Given the description of an element on the screen output the (x, y) to click on. 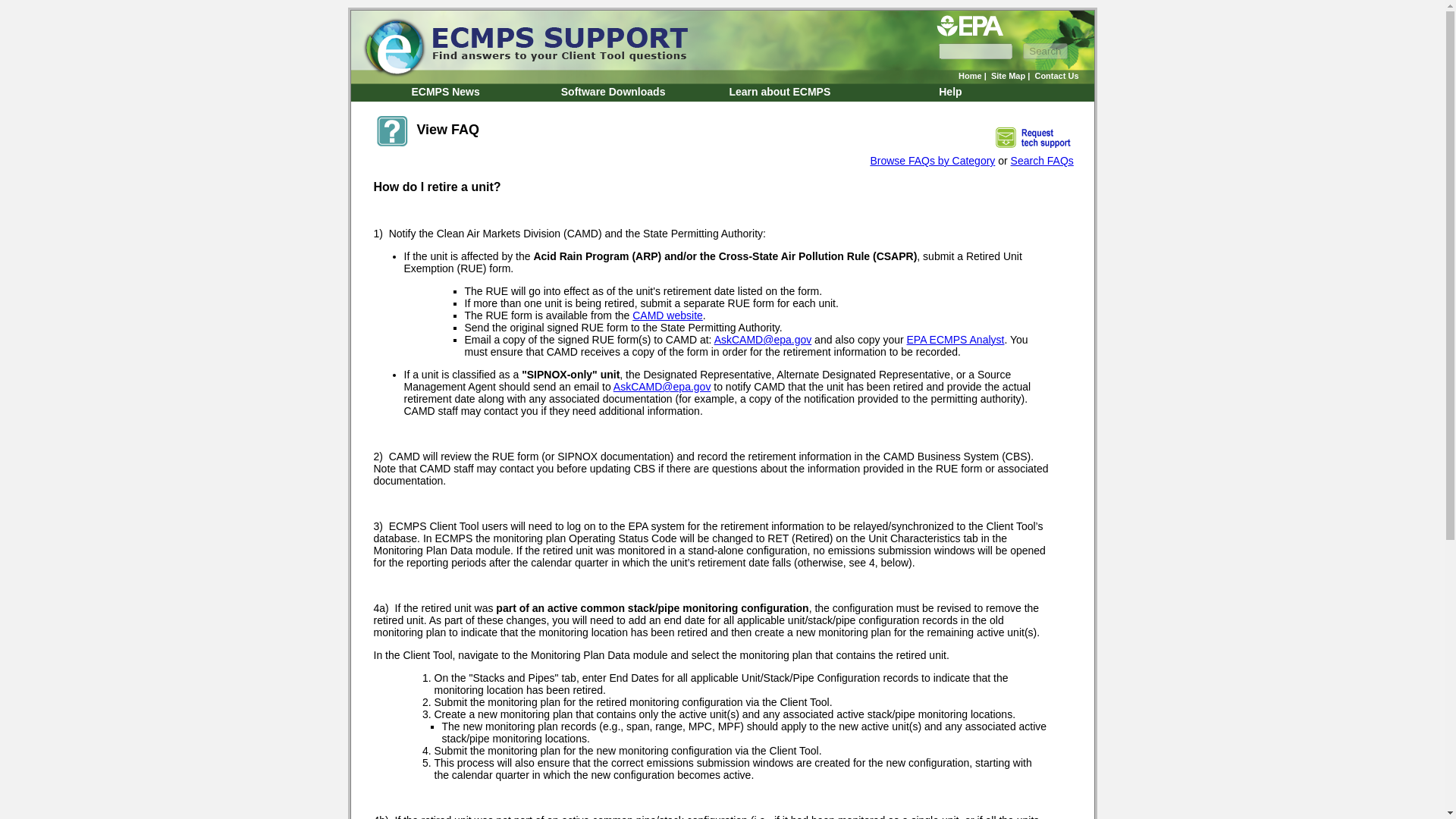
Search (1045, 50)
Learn about ECMPS (779, 91)
Search (1045, 50)
CAMD website (667, 315)
EPA ECMPS Analyst (955, 339)
Site Map (1008, 75)
Browse FAQs by Category (931, 160)
Search FAQs (1042, 160)
Contact Us (1055, 75)
Software Downloads (612, 91)
